Given the description of an element on the screen output the (x, y) to click on. 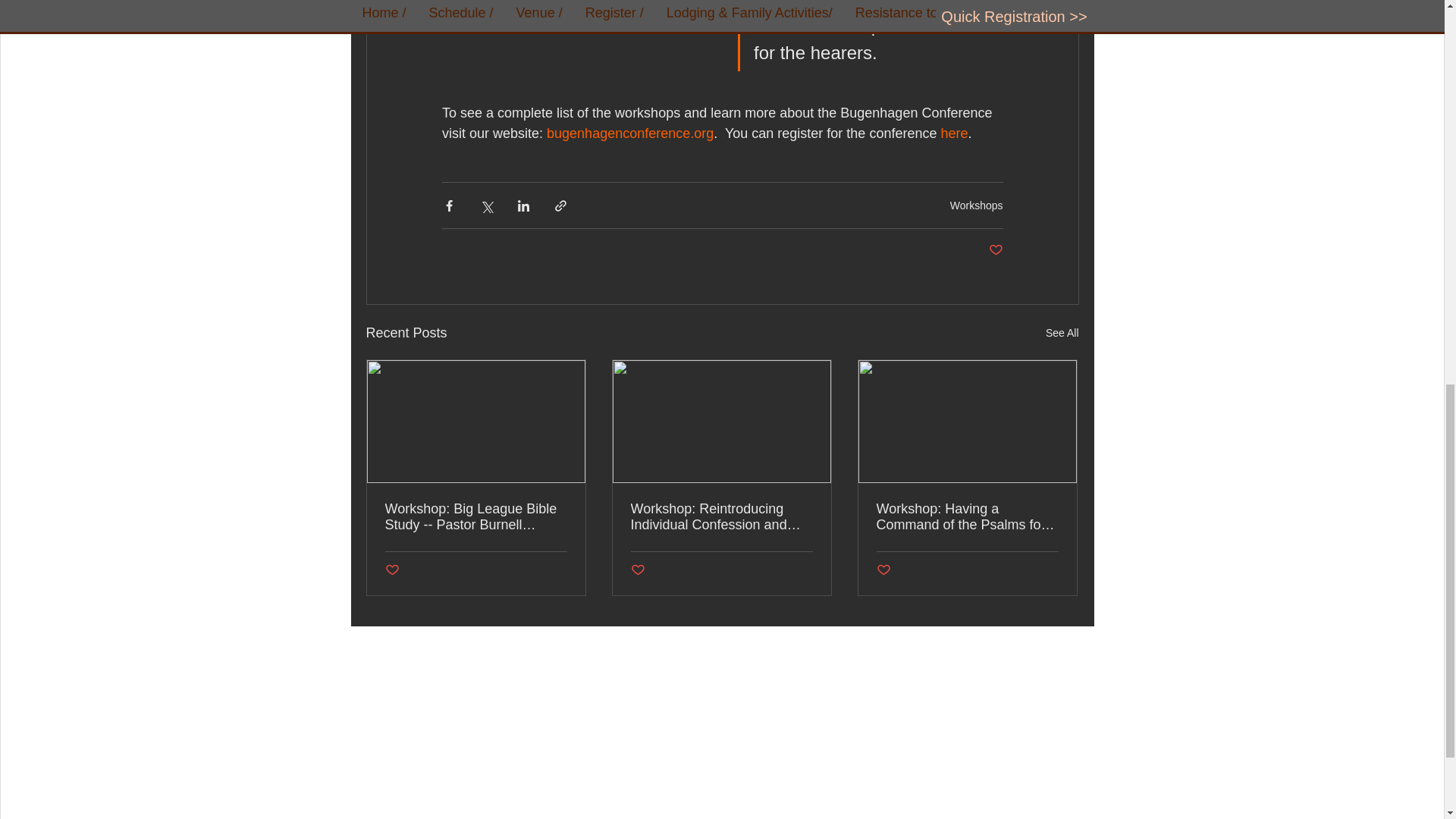
bugenhagenconference.org (630, 133)
Post not marked as liked (883, 570)
Post not marked as liked (391, 570)
Workshops (976, 204)
here (954, 133)
See All (1061, 332)
Workshop: Big League Bible Study -- Pastor Burnell Eckardt (476, 517)
Post not marked as liked (995, 250)
Post not marked as liked (637, 570)
